Given the description of an element on the screen output the (x, y) to click on. 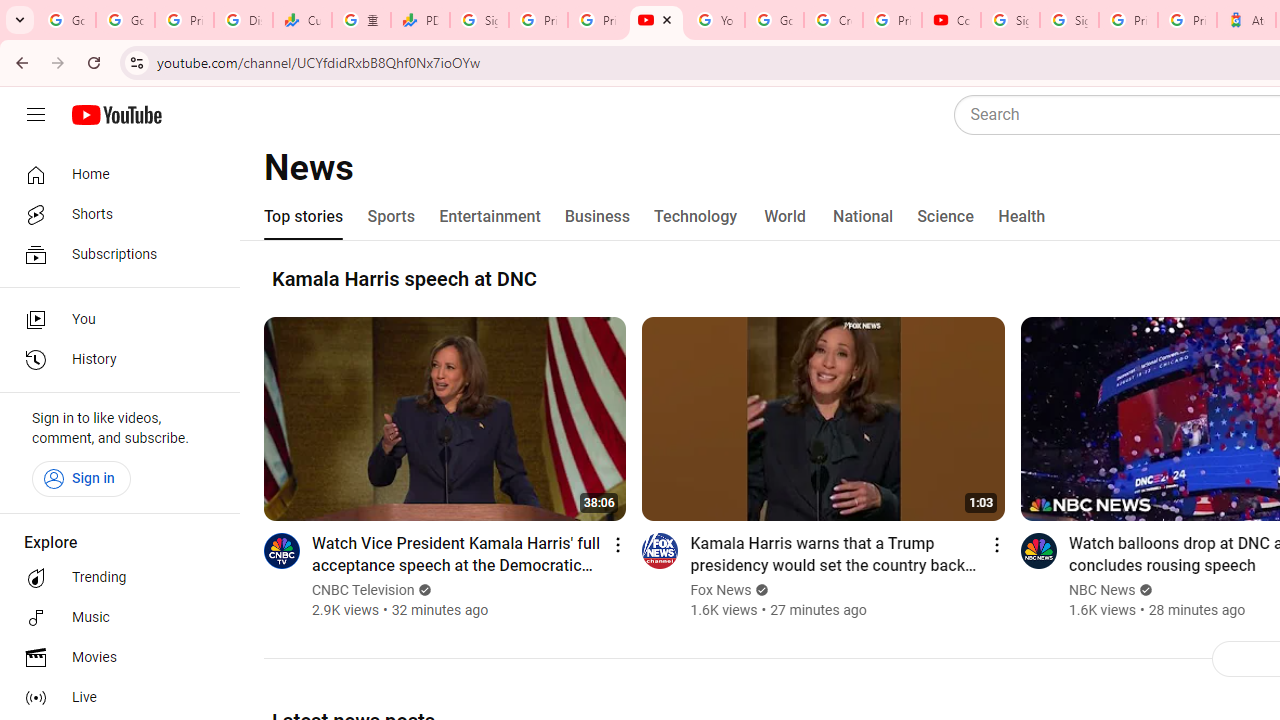
YouTube Home (116, 115)
Google Workspace Admin Community (66, 20)
Verified (1144, 590)
YouTube (715, 20)
Subscriptions (113, 254)
Top stories (303, 216)
Go to channel (1038, 550)
Action menu (996, 544)
Guide (35, 115)
World (785, 216)
Music (113, 617)
